Given the description of an element on the screen output the (x, y) to click on. 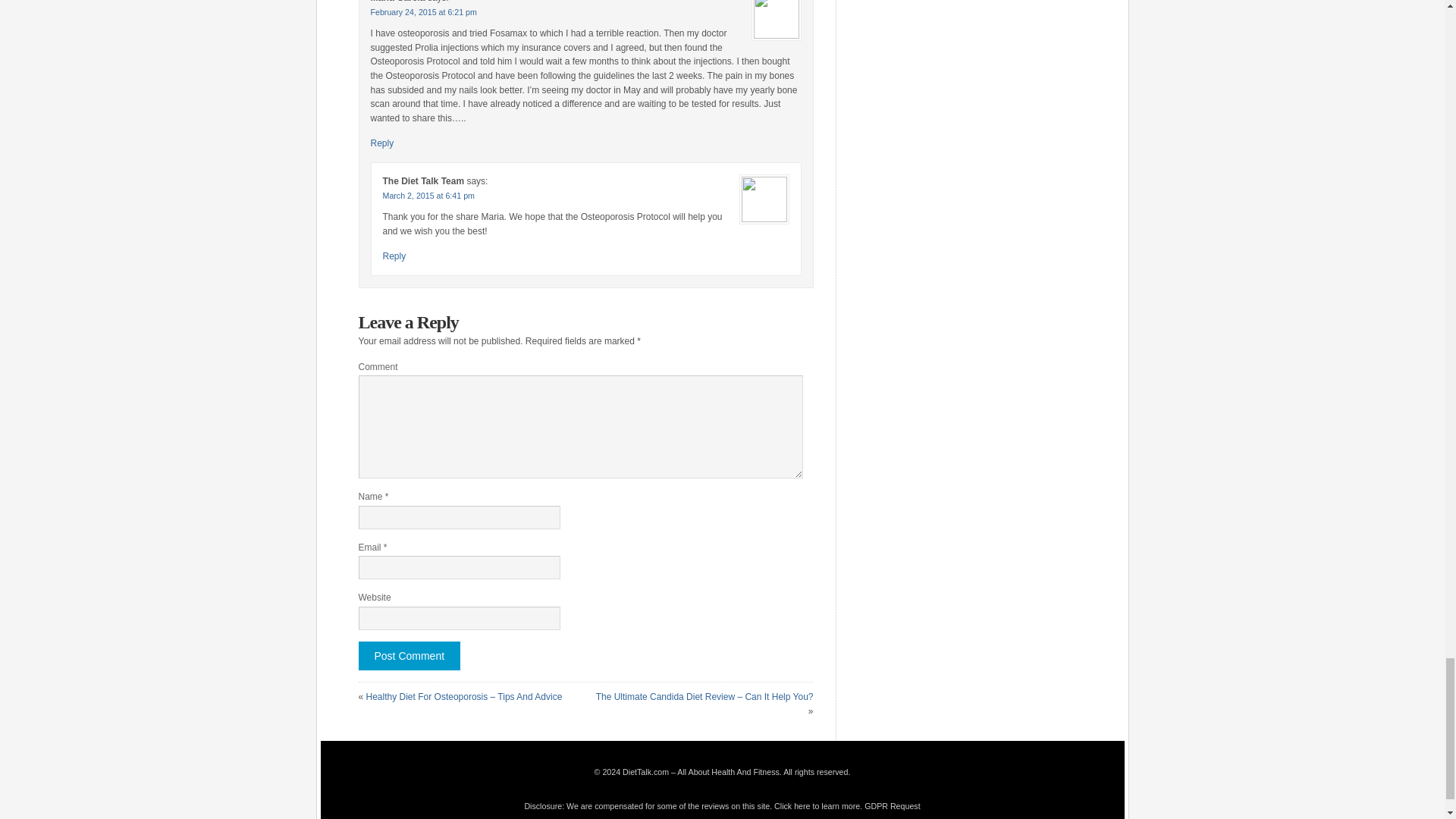
March 2, 2015 at 6:41 pm (427, 194)
Reply (393, 255)
Post Comment (409, 655)
February 24, 2015 at 6:21 pm (422, 11)
Post Comment (409, 655)
Reply (381, 143)
